Given the description of an element on the screen output the (x, y) to click on. 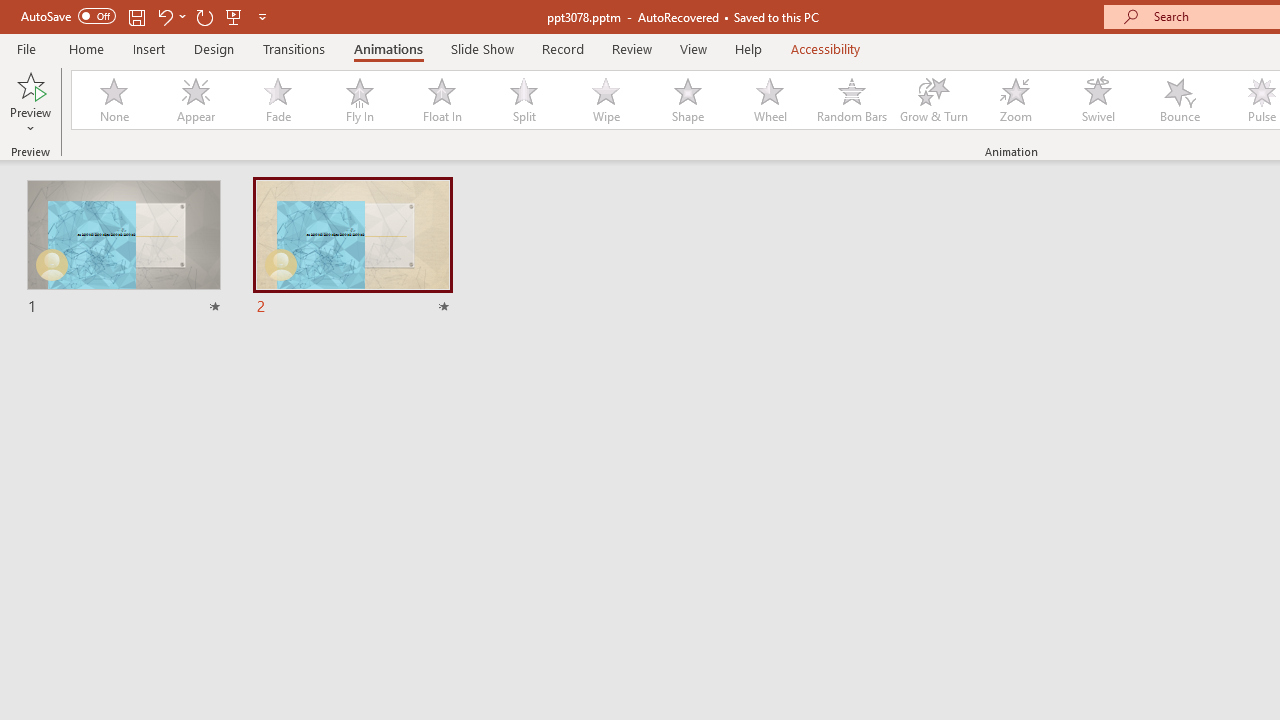
Swivel (1098, 100)
Split (523, 100)
Appear (195, 100)
Fly In (359, 100)
Bounce (1180, 100)
